Given the description of an element on the screen output the (x, y) to click on. 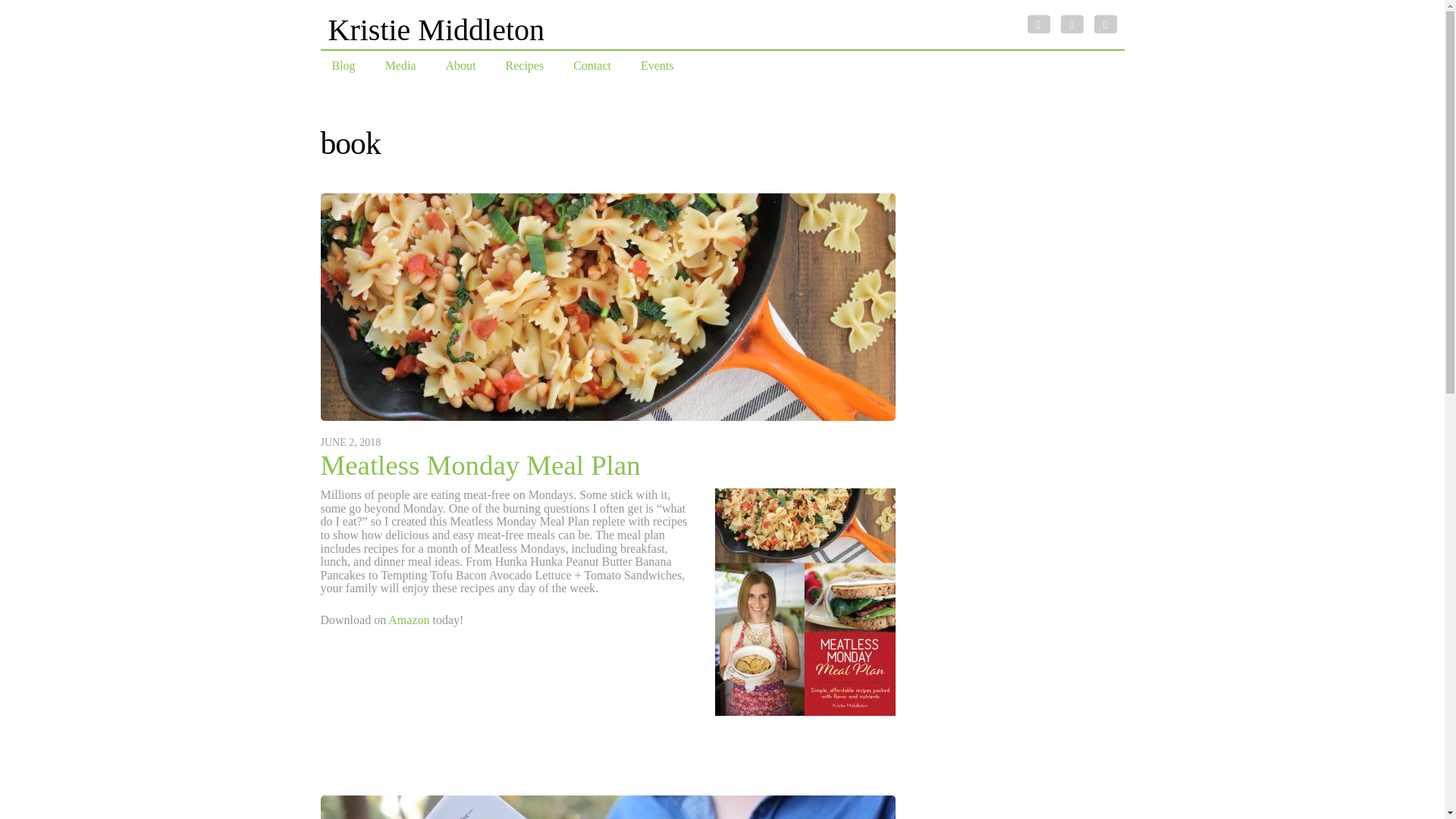
Contact (592, 66)
Meatless Monday Meal Plan (480, 463)
Blog (343, 66)
Media (401, 66)
Events (656, 66)
Meatless Monday Meal Plan (607, 416)
Meatless Monday Meal Plan (480, 463)
Kristie Middleton (435, 29)
Recipes (525, 66)
Kristie Middleton (435, 29)
About (459, 66)
Amazon (410, 619)
